Given the description of an element on the screen output the (x, y) to click on. 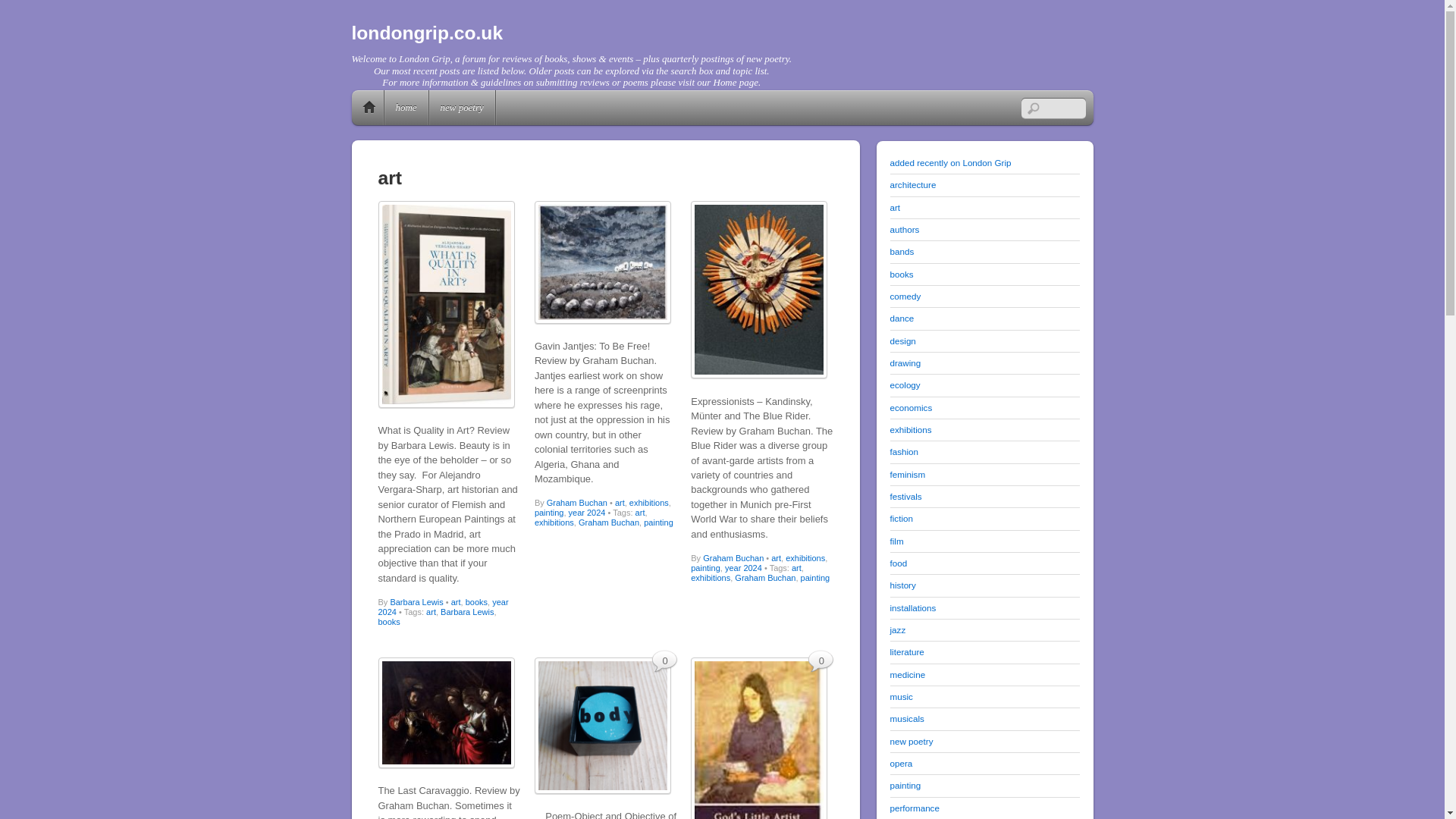
art (797, 567)
Graham Buchan (577, 501)
KELLY (602, 725)
home (406, 107)
art (430, 611)
painting (705, 567)
exhibitions (553, 522)
londongrip.co.uk (427, 32)
home (369, 107)
Search (1052, 107)
exhibitions (710, 577)
Graham Buchan (608, 522)
painting (814, 577)
Barbara Lewis (416, 601)
art (775, 557)
